Given the description of an element on the screen output the (x, y) to click on. 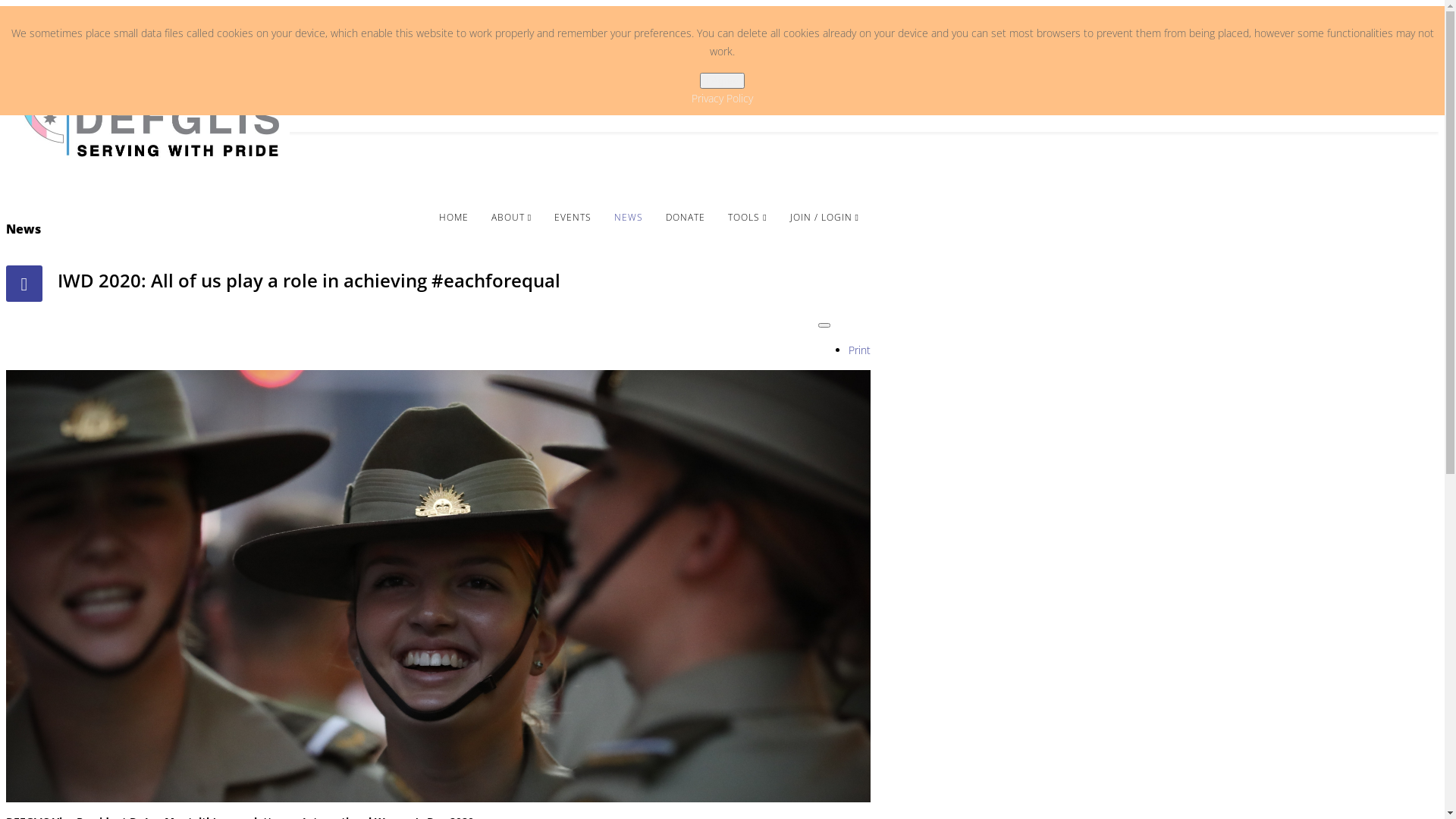
TOOLS Element type: text (747, 217)
JOIN / LOGIN Element type: text (824, 217)
HOME Element type: text (453, 216)
ABOUT Element type: text (511, 217)
I Agree Element type: text (721, 80)
Print Element type: text (859, 349)
DONATE Element type: text (685, 216)
Privacy Policy Element type: text (722, 98)
EVENTS Element type: text (572, 216)
NEWS Element type: text (628, 216)
